Given the description of an element on the screen output the (x, y) to click on. 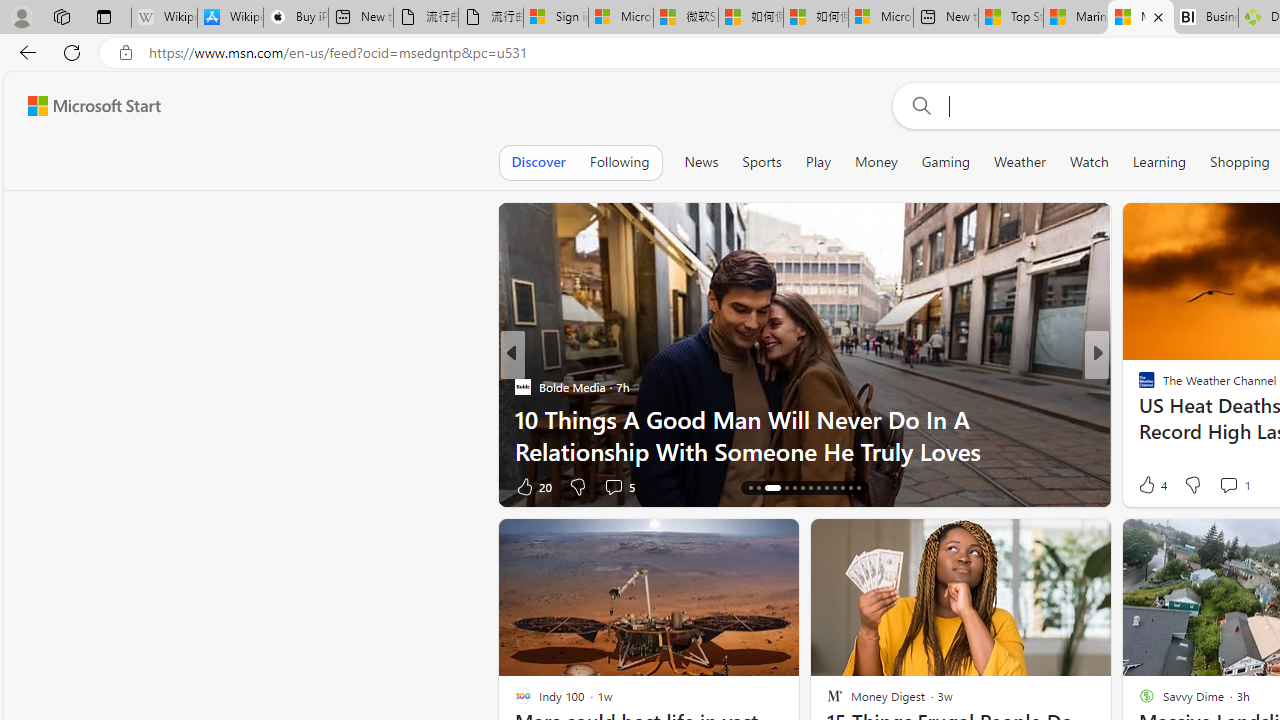
13 Like (1149, 486)
A Conscious Rethink (1138, 386)
AutomationID: tab-14 (750, 487)
Sports (761, 162)
View comments 11 Comment (1234, 485)
311 Like (1151, 486)
AutomationID: tab-23 (833, 487)
GOBankingRates (522, 386)
Gaming (945, 162)
Play (817, 161)
AutomationID: tab-15 (757, 487)
View comments 13 Comment (11, 485)
